Given the description of an element on the screen output the (x, y) to click on. 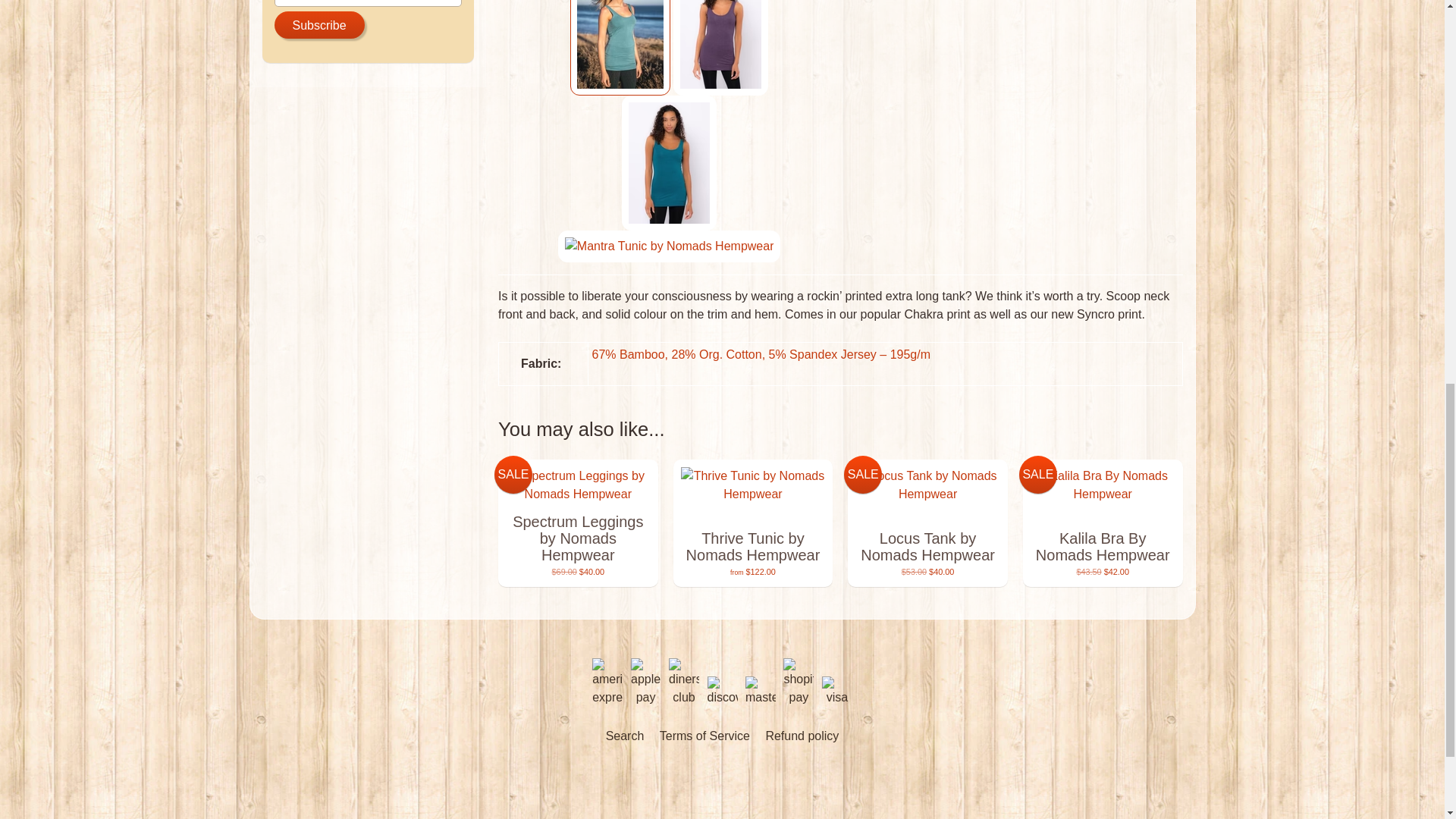
Kalila Bra By Nomads Hempwear (1102, 523)
Mantra Tunic by Nomads Hempwear (720, 47)
Locus Tank by Nomads Hempwear (927, 523)
Spectrum Leggings by Nomads Hempwear (577, 523)
Thrive Tunic by Nomads Hempwear (752, 523)
Mantra Tunic by Nomads Hempwear (619, 47)
Mantra Tunic by Nomads Hempwear (668, 246)
